Given the description of an element on the screen output the (x, y) to click on. 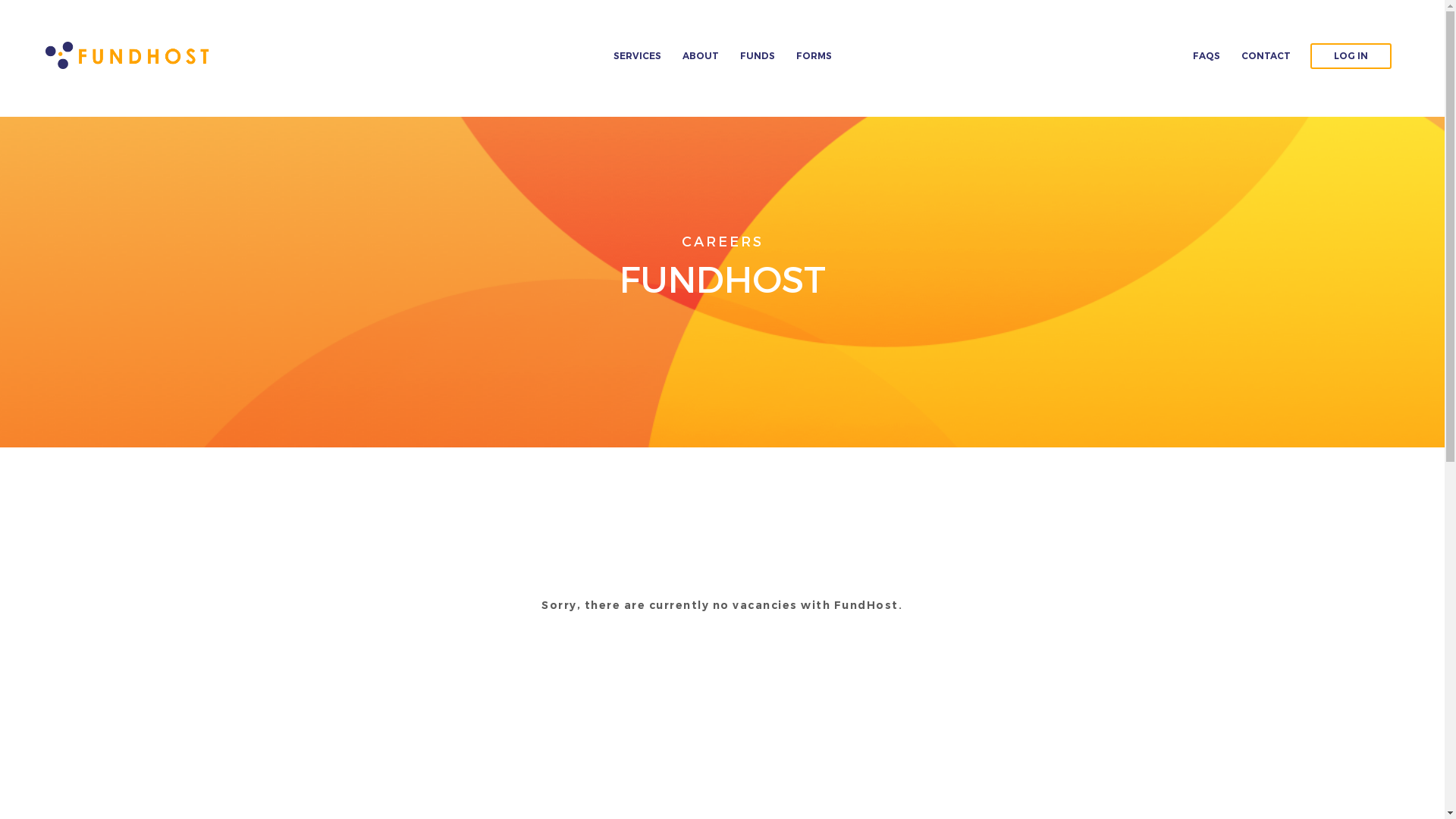
FAQS Element type: text (1206, 55)
ABOUT Element type: text (700, 55)
FUNDS Element type: text (757, 55)
CONTACT Element type: text (1265, 55)
SERVICES Element type: text (636, 55)
LOG IN Element type: text (1350, 56)
FORMS Element type: text (813, 55)
